Given the description of an element on the screen output the (x, y) to click on. 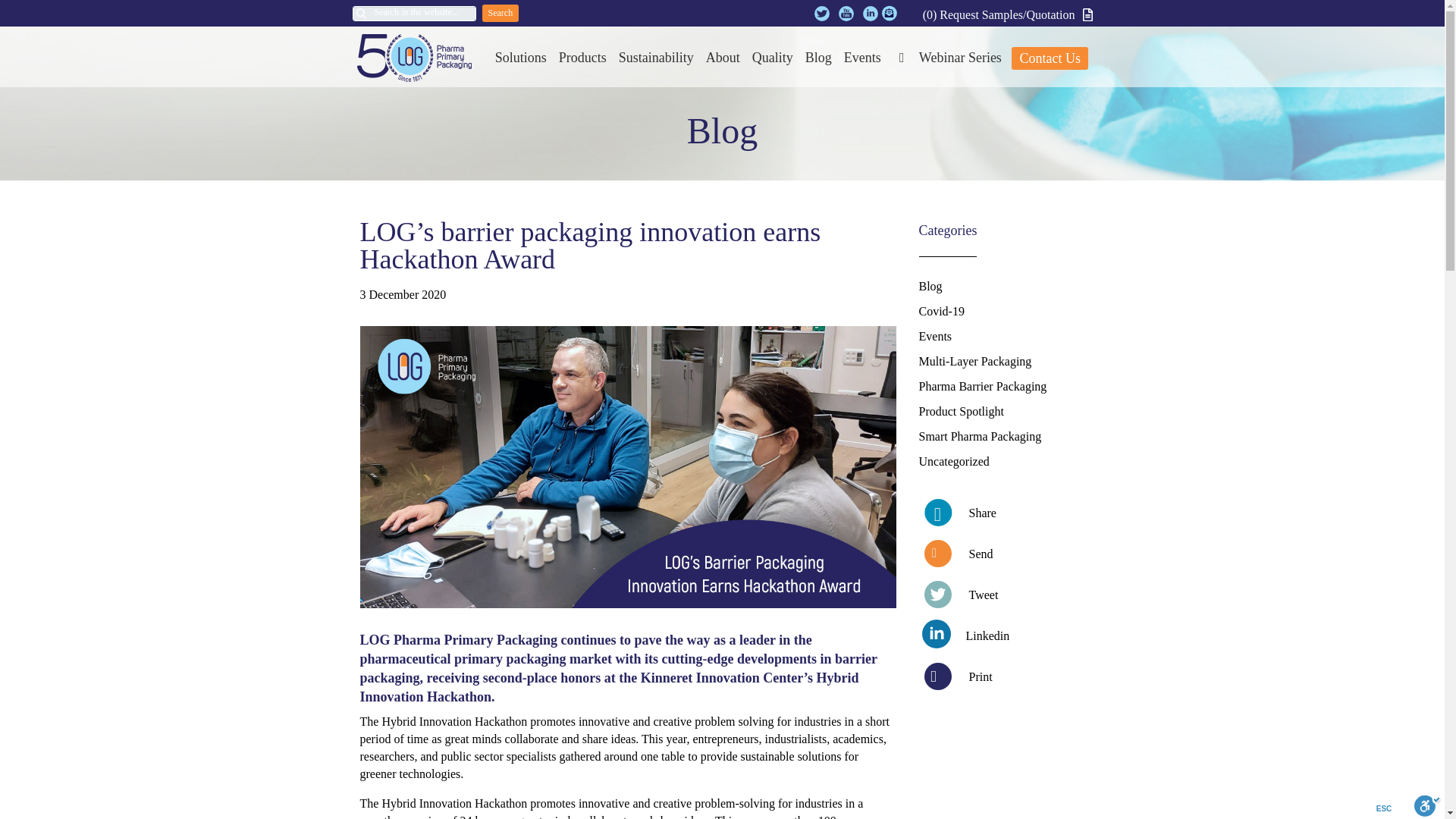
Webinar Series (946, 57)
Facebook (999, 512)
Print (999, 676)
Search (500, 13)
Blog (818, 57)
Products (582, 57)
About (722, 57)
Contact Us (1049, 57)
Sustainability (656, 57)
LinkedIn (999, 635)
Twitter (999, 594)
Search (500, 13)
Solutions (521, 57)
Search (500, 13)
